Given the description of an element on the screen output the (x, y) to click on. 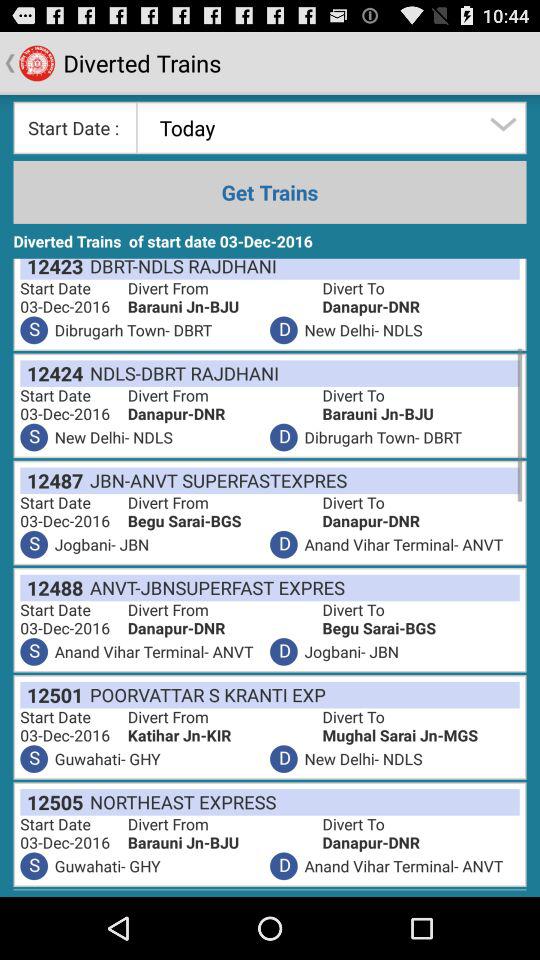
open the app to the right of start date item (223, 735)
